Given the description of an element on the screen output the (x, y) to click on. 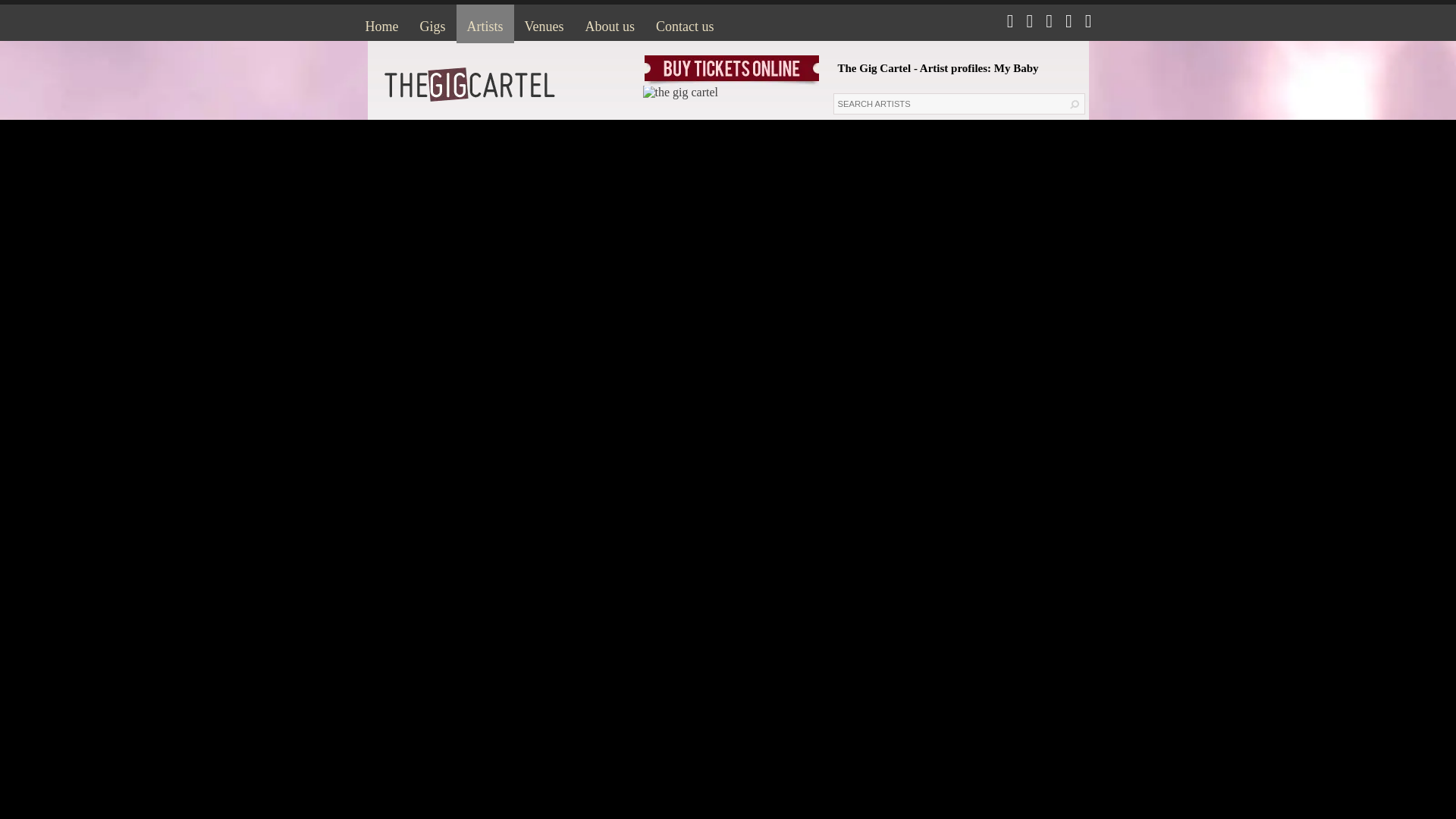
Home (382, 23)
Venues (544, 23)
Contact us (685, 23)
Search artists (948, 103)
Artists (485, 23)
About us (610, 23)
Gigs (433, 23)
